Given the description of an element on the screen output the (x, y) to click on. 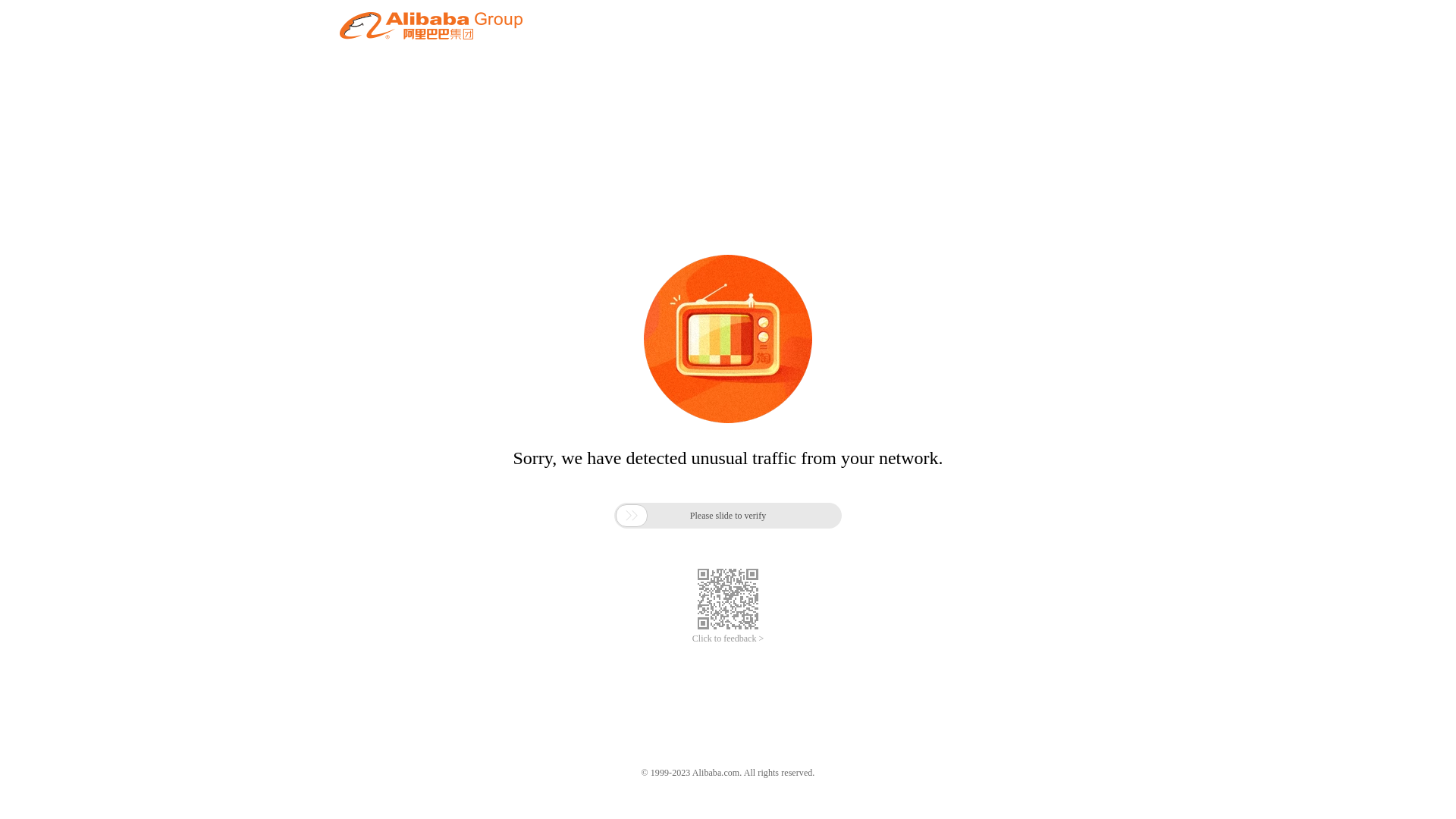
Click to feedback > Element type: text (727, 638)
